Given the description of an element on the screen output the (x, y) to click on. 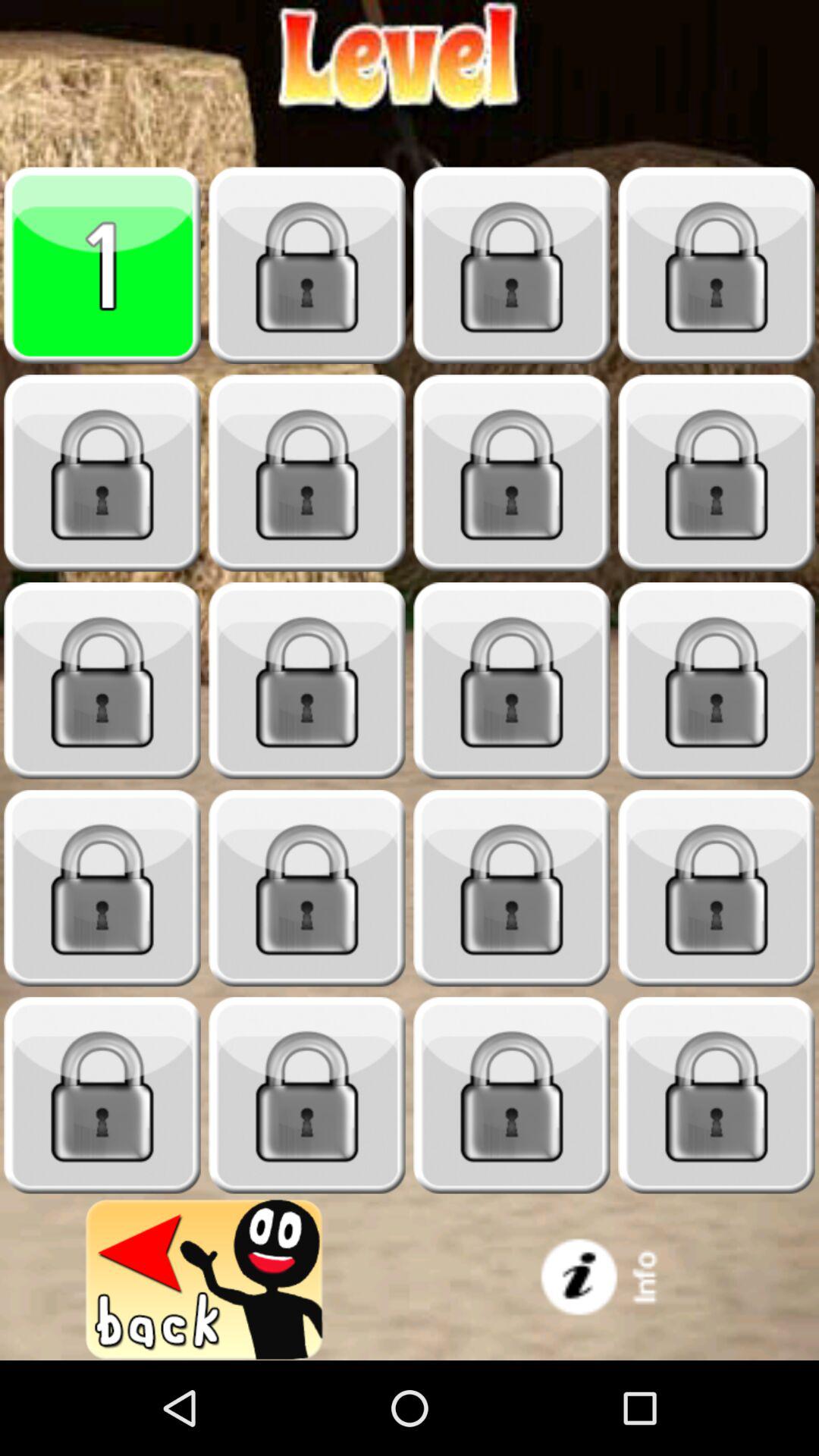
go to level (306, 680)
